Given the description of an element on the screen output the (x, y) to click on. 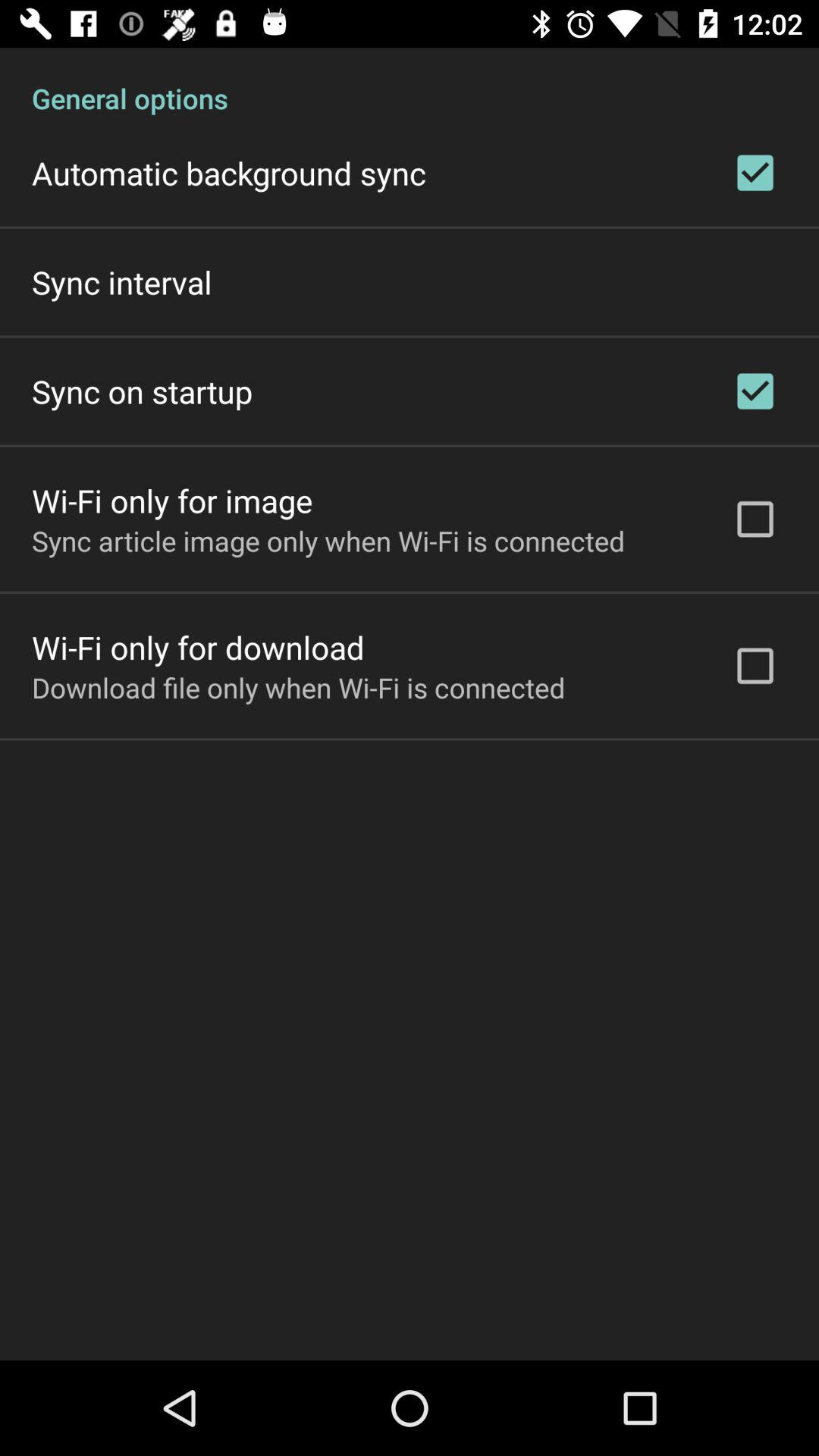
jump to automatic background sync (228, 172)
